Given the description of an element on the screen output the (x, y) to click on. 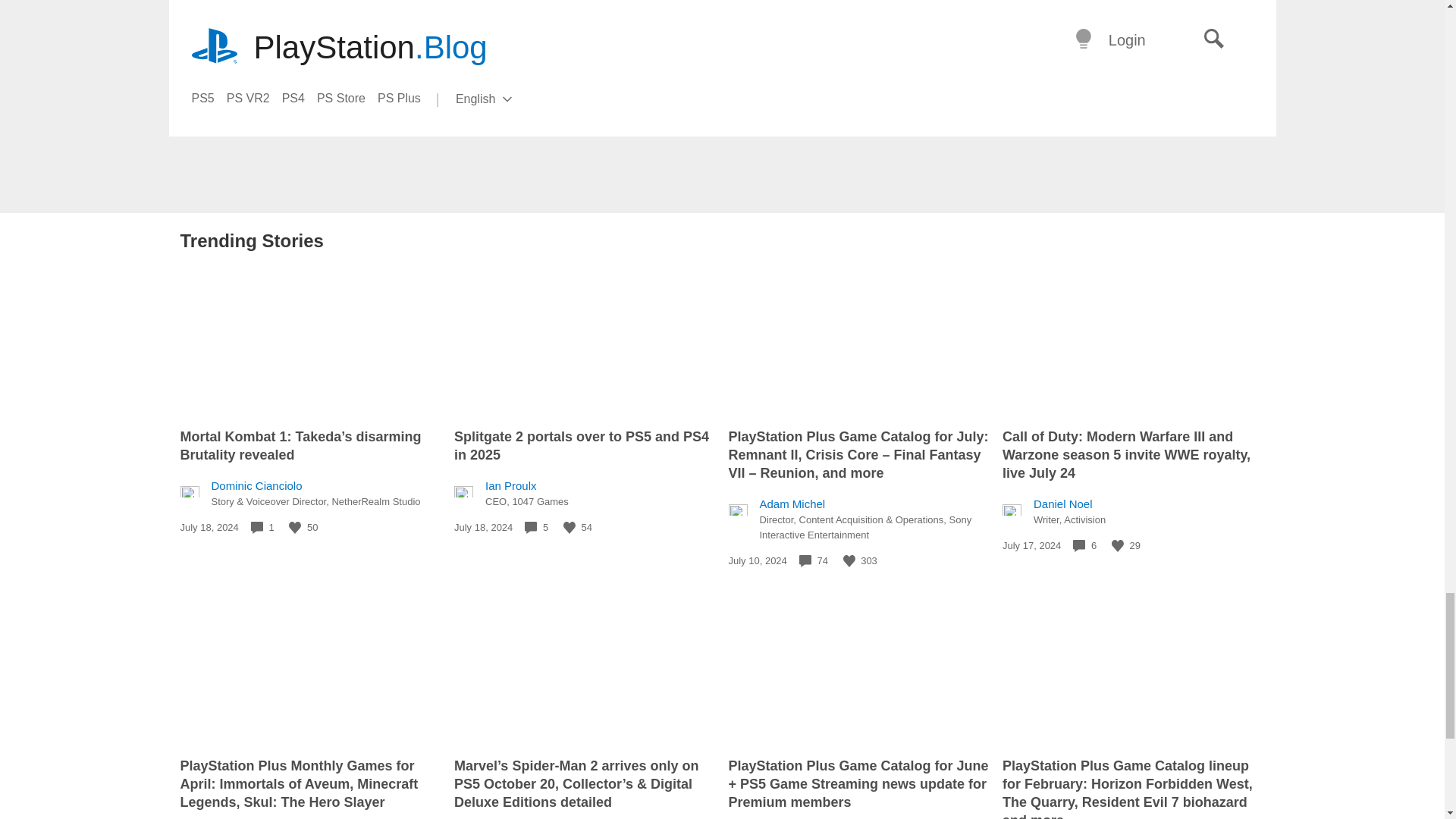
Like this (849, 561)
Like this (294, 527)
Like this (1118, 545)
Like this (569, 527)
